Given the description of an element on the screen output the (x, y) to click on. 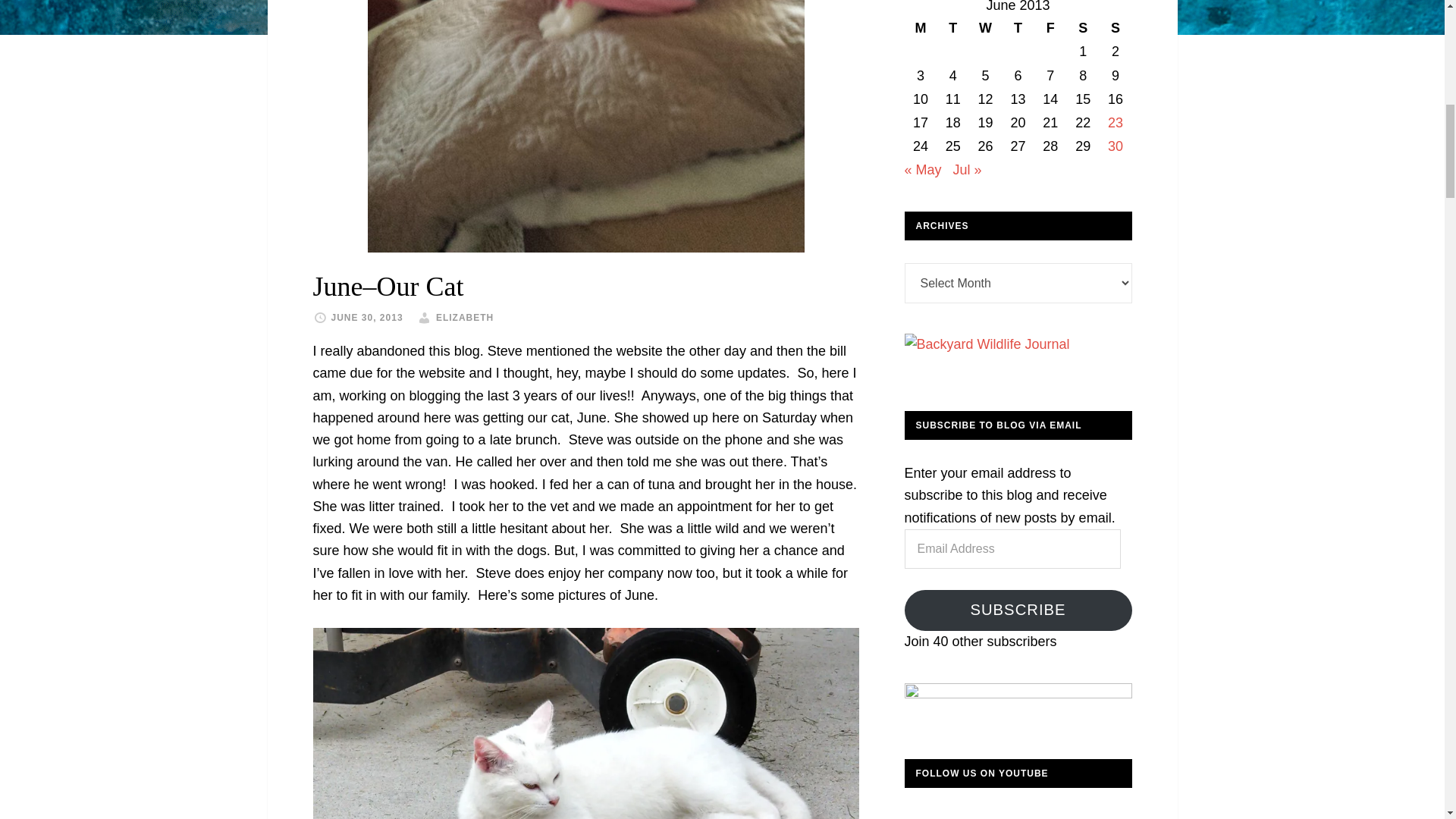
Tuesday (952, 28)
YouTube (922, 814)
30 (1115, 145)
ELIZABETH (464, 317)
Friday (1050, 28)
23 (1115, 122)
Thursday (1017, 28)
Wednesday (985, 28)
Saturday (1083, 28)
SUBSCRIBE (1017, 609)
